Given the description of an element on the screen output the (x, y) to click on. 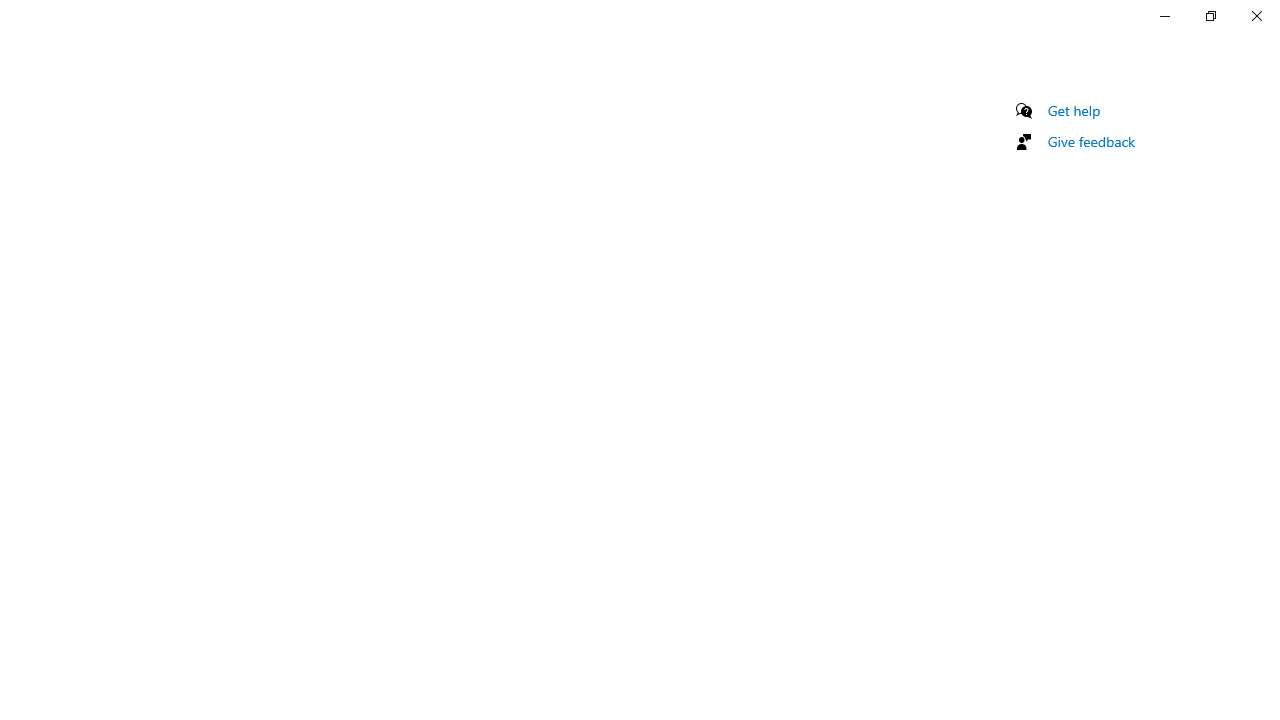
Give feedback (1091, 141)
Restore Settings (1210, 15)
Close Settings (1256, 15)
Minimize Settings (1164, 15)
Get help (1074, 110)
